Given the description of an element on the screen output the (x, y) to click on. 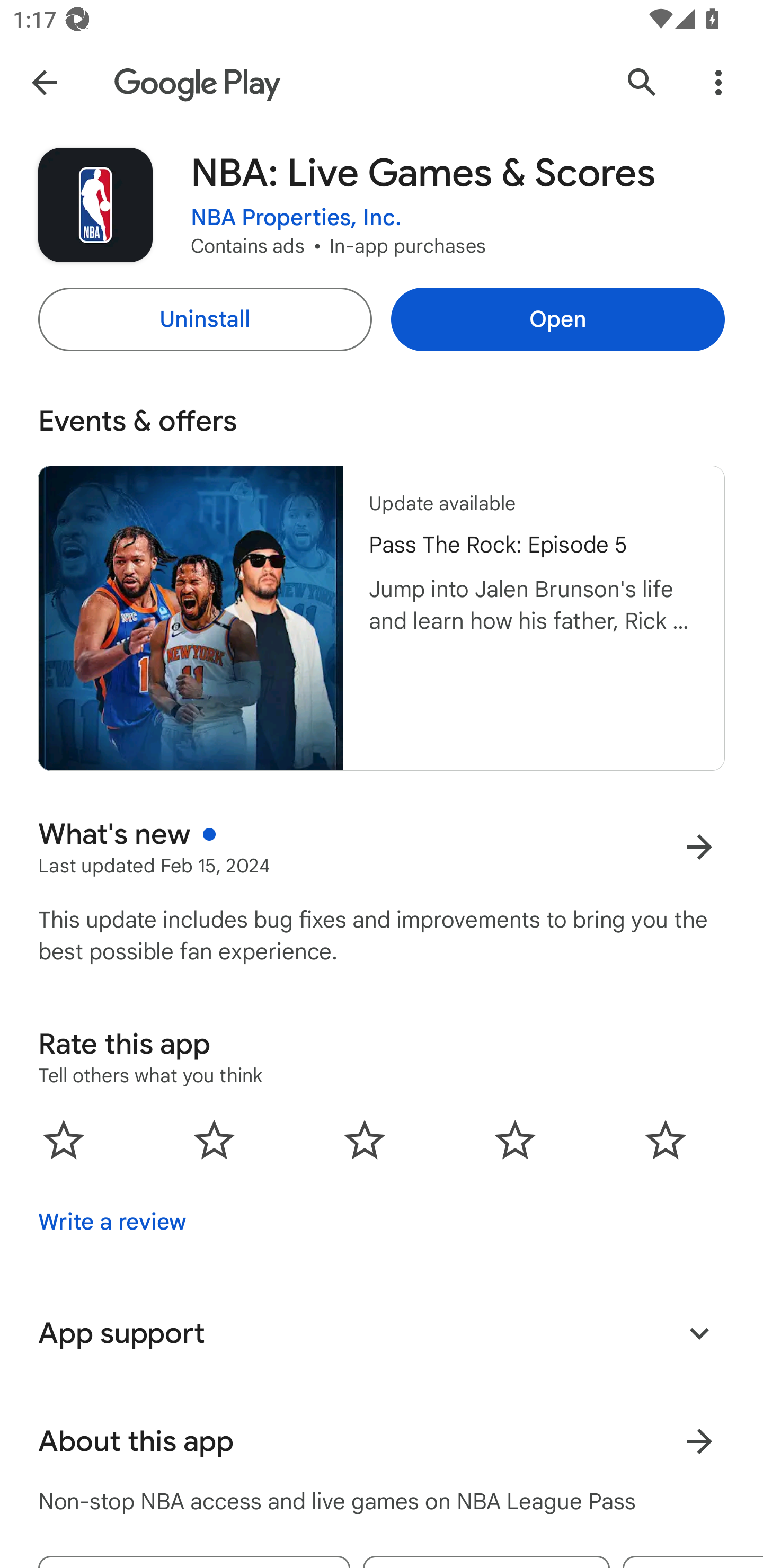
Navigate up (44, 81)
Search Google Play (642, 81)
More Options (718, 81)
NBA Properties, Inc. (295, 217)
Uninstall (205, 318)
Open (557, 318)
More results for What's new (699, 847)
0.0 (364, 1138)
Write a review (112, 1221)
App support Expand (381, 1333)
Expand (699, 1333)
About this app Learn more About this app (381, 1441)
Learn more About this app (699, 1441)
